Given the description of an element on the screen output the (x, y) to click on. 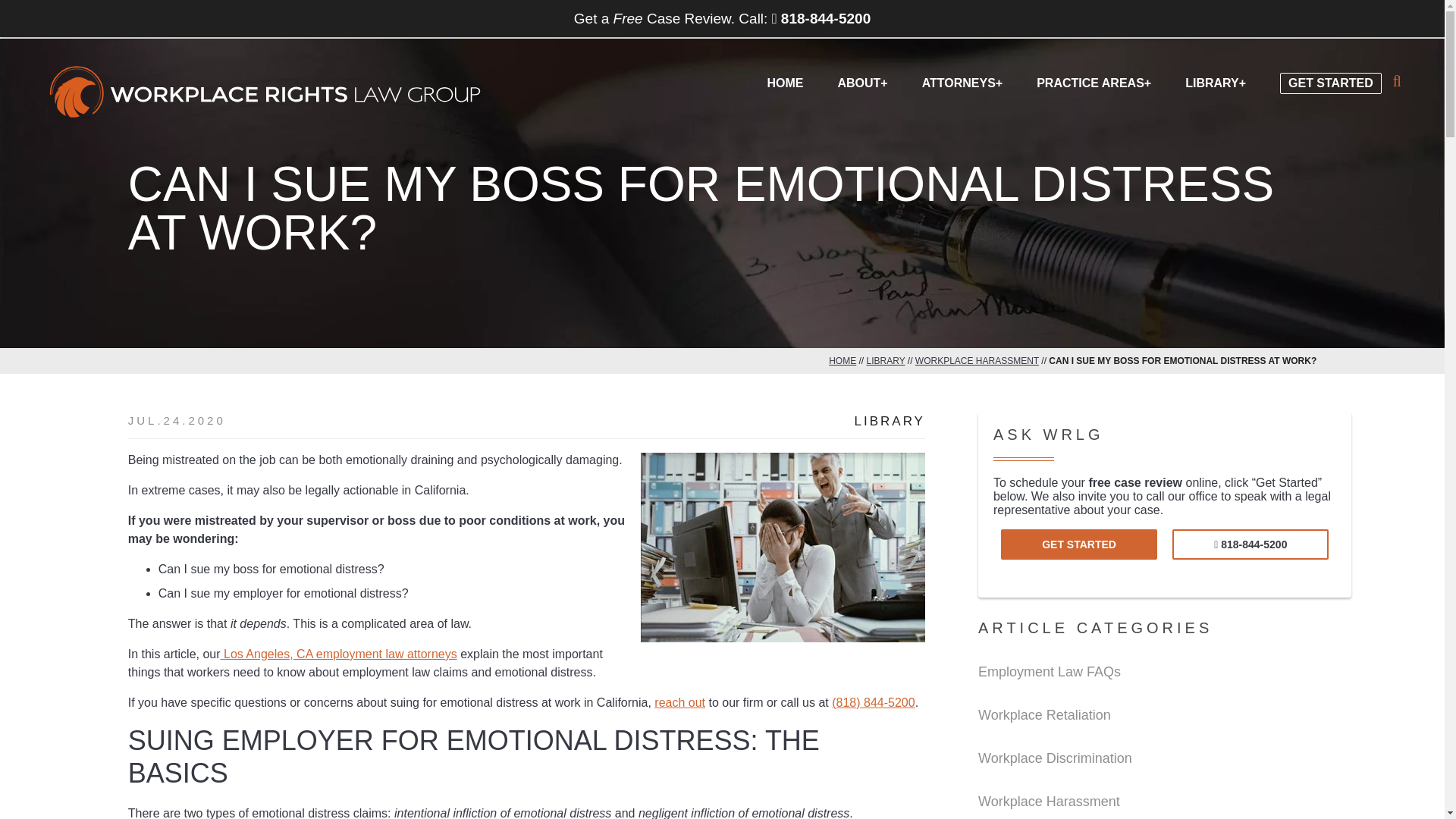
LIBRARY (1215, 81)
Call Us (1249, 544)
Library (888, 421)
ATTORNEYS (962, 81)
HOME (842, 360)
Workplace Rights Law Group Home (265, 93)
GET STARTED (1330, 71)
PRACTICE AREAS (1093, 81)
ABOUT (861, 81)
LIBRARY (885, 360)
